Given the description of an element on the screen output the (x, y) to click on. 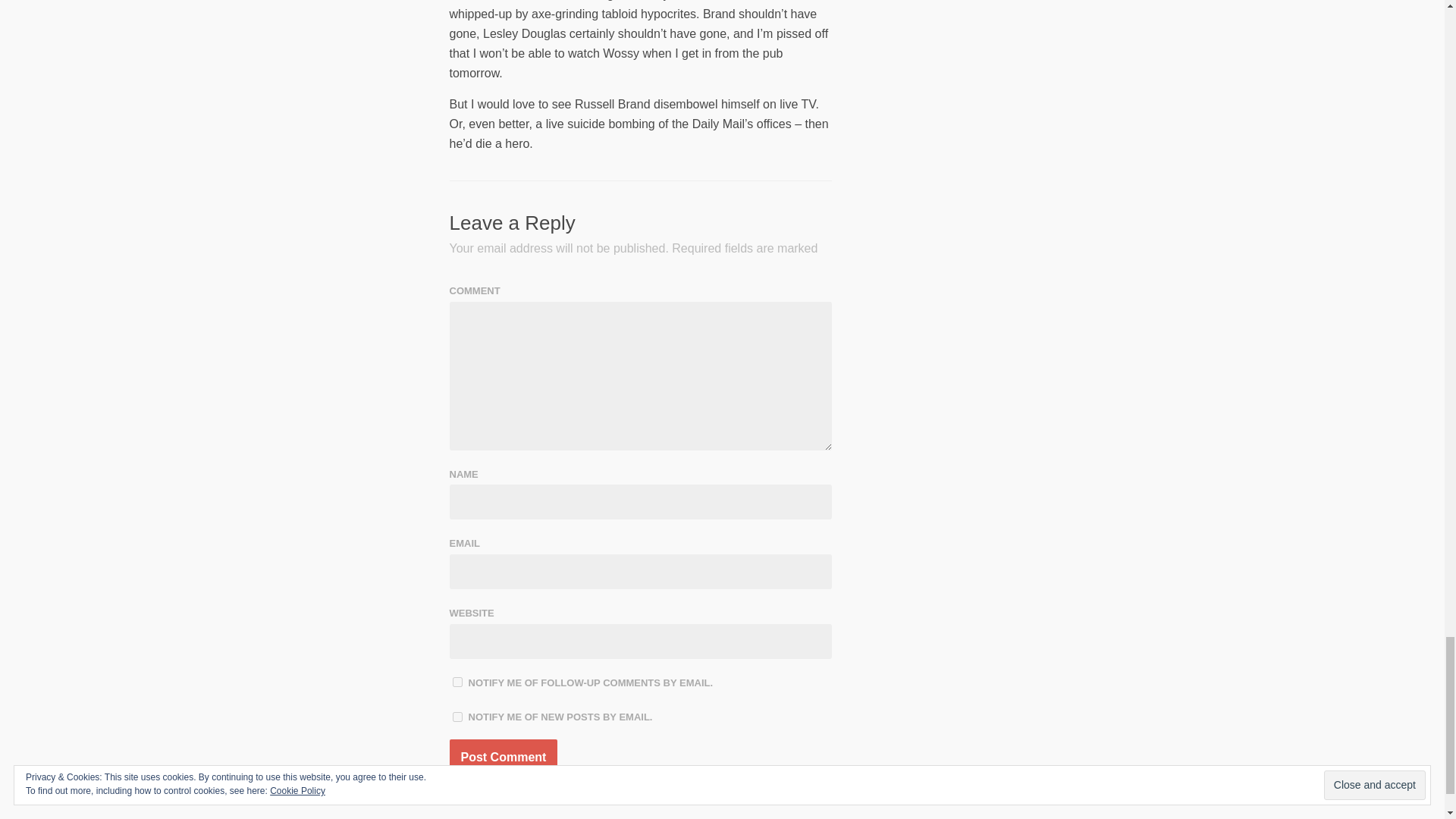
subscribe (456, 716)
subscribe (456, 682)
Post Comment (502, 757)
